Given the description of an element on the screen output the (x, y) to click on. 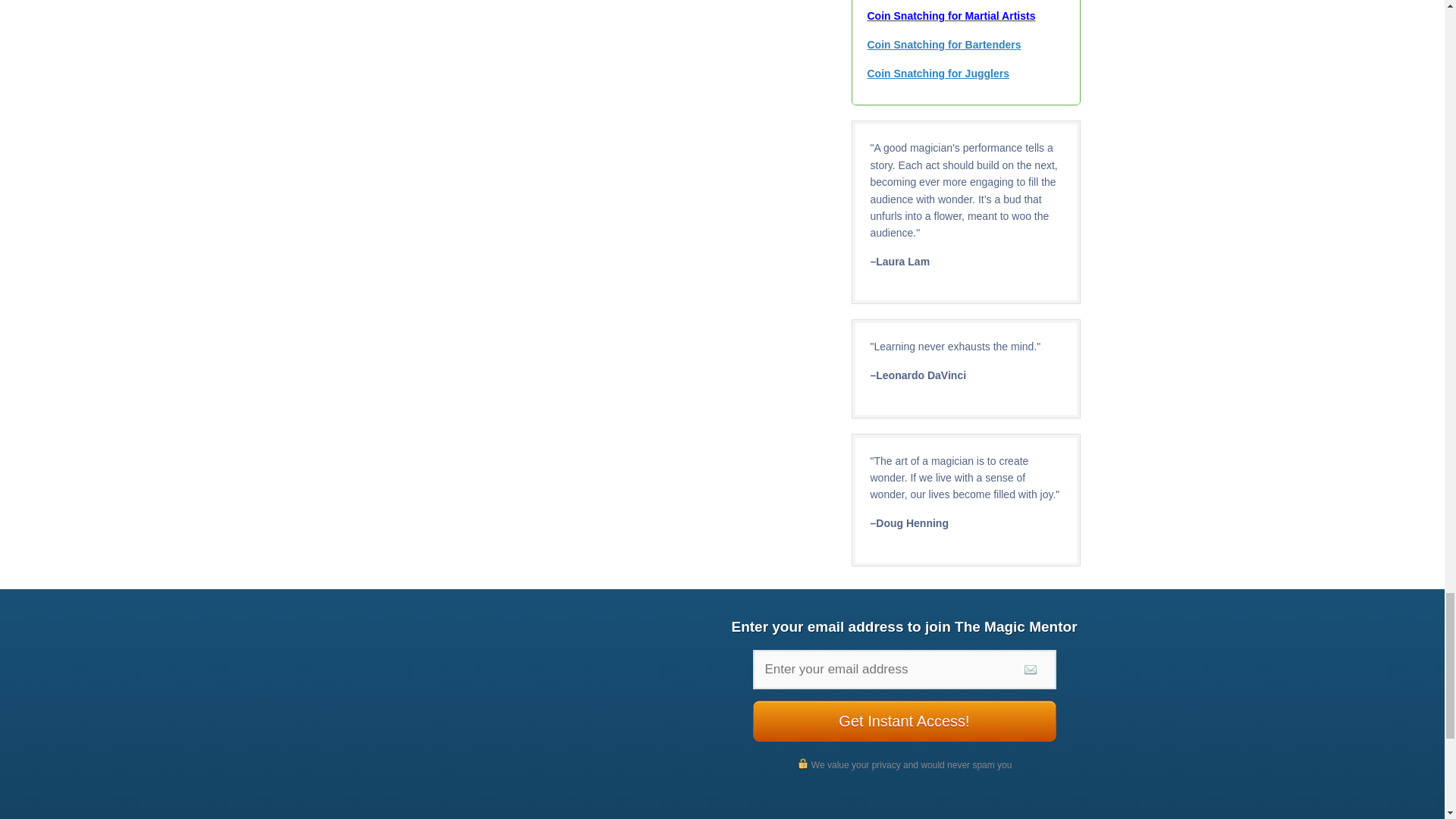
Coin Snatching for Bartenders (944, 44)
Get Instant Access! (903, 721)
Coin Snatching for Martial Artists (951, 15)
Coin Snatching for Jugglers (938, 73)
